Given the description of an element on the screen output the (x, y) to click on. 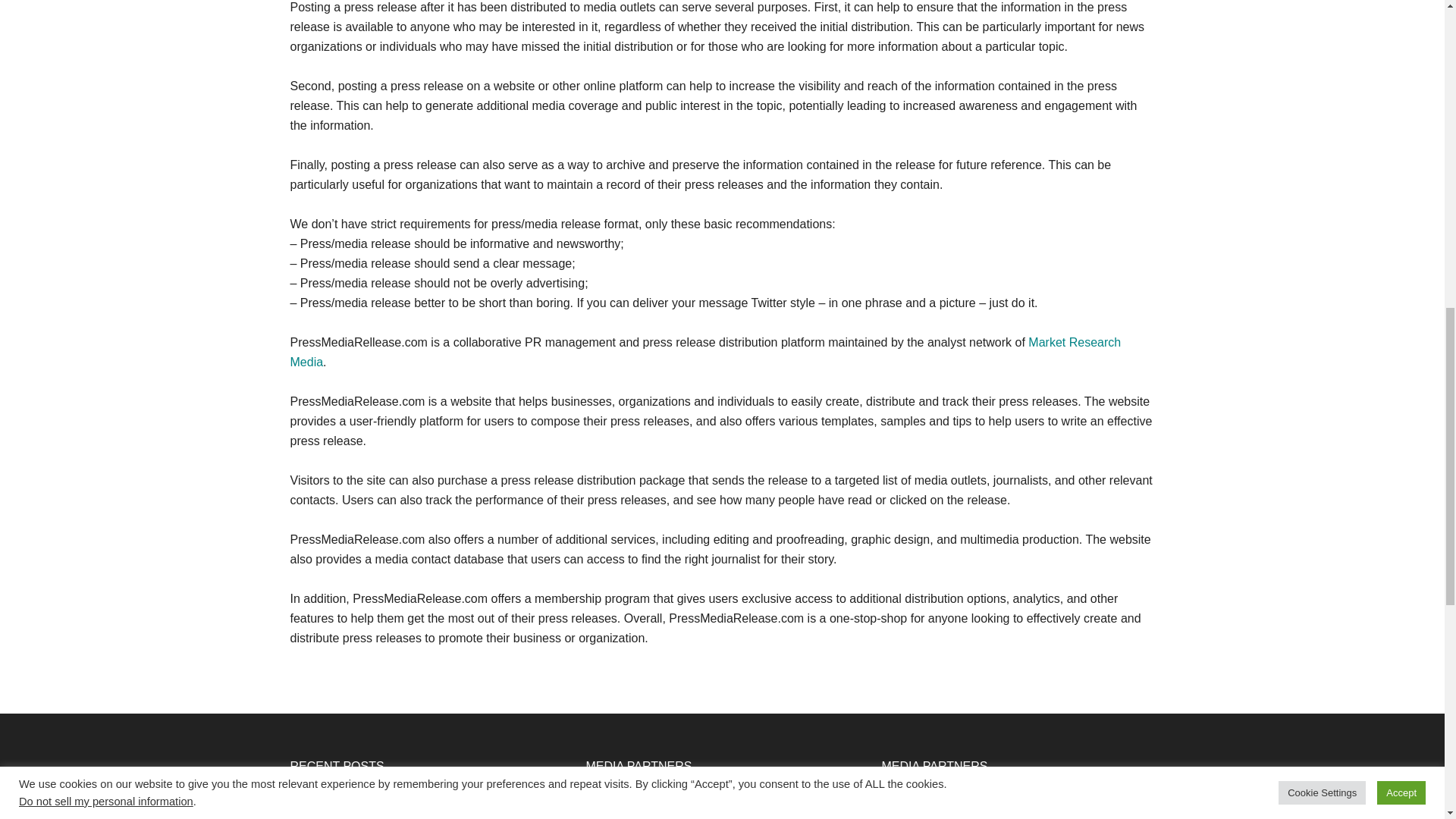
Market Research Media (705, 351)
Introducing DN4B.com: Your Ultimate Domain Name Marketplace (412, 806)
